Given the description of an element on the screen output the (x, y) to click on. 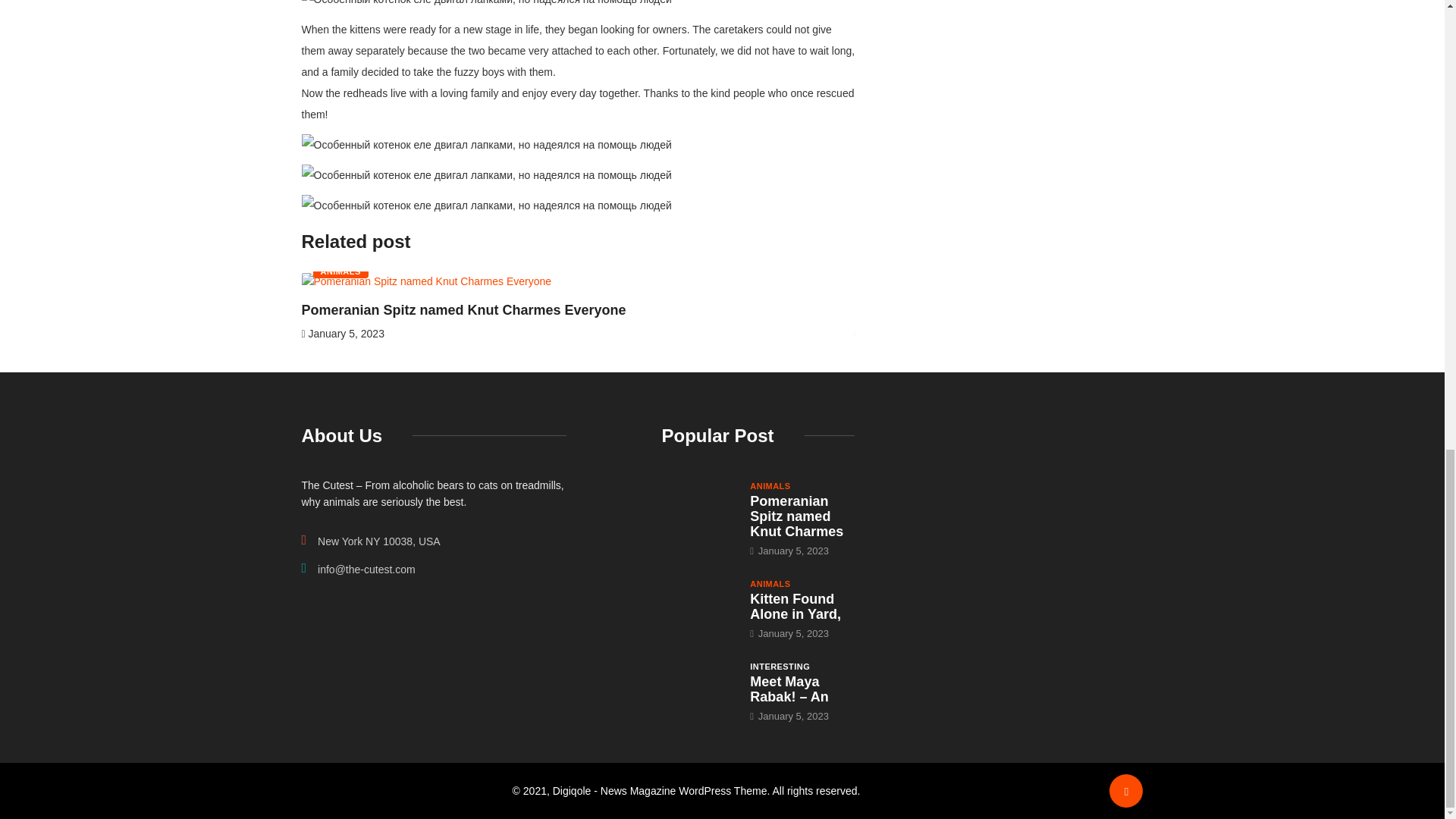
ANIMALS (340, 270)
Pomeranian Spitz named Knut Charmes Everyone (463, 309)
Pomeranian Spitz named Knut Charmes Everyone (796, 515)
Pomeranian Spitz named Knut Charmes Everyone (698, 506)
